Given the description of an element on the screen output the (x, y) to click on. 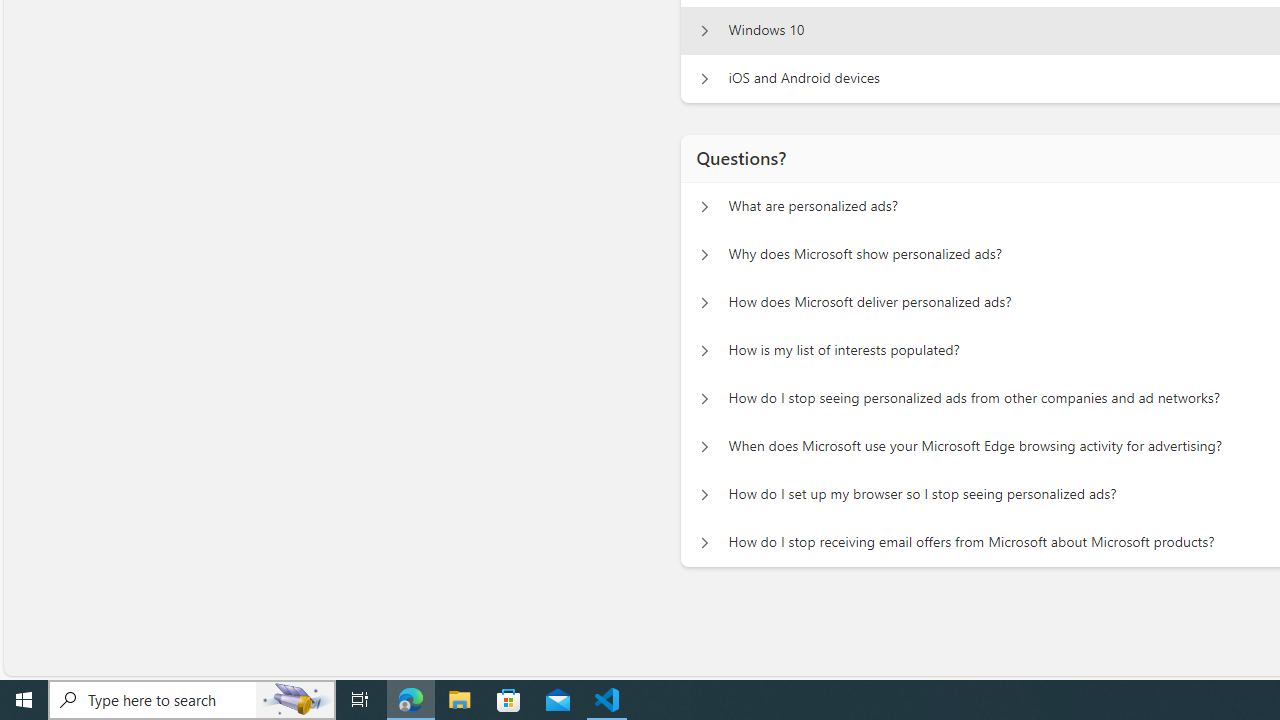
Questions? What are personalized ads? (704, 206)
Questions? How does Microsoft deliver personalized ads? (704, 302)
Questions? How is my list of interests populated? (704, 350)
Manage personalized ads on your device Windows 10 (704, 30)
Questions? Why does Microsoft show personalized ads? (704, 255)
